Given the description of an element on the screen output the (x, y) to click on. 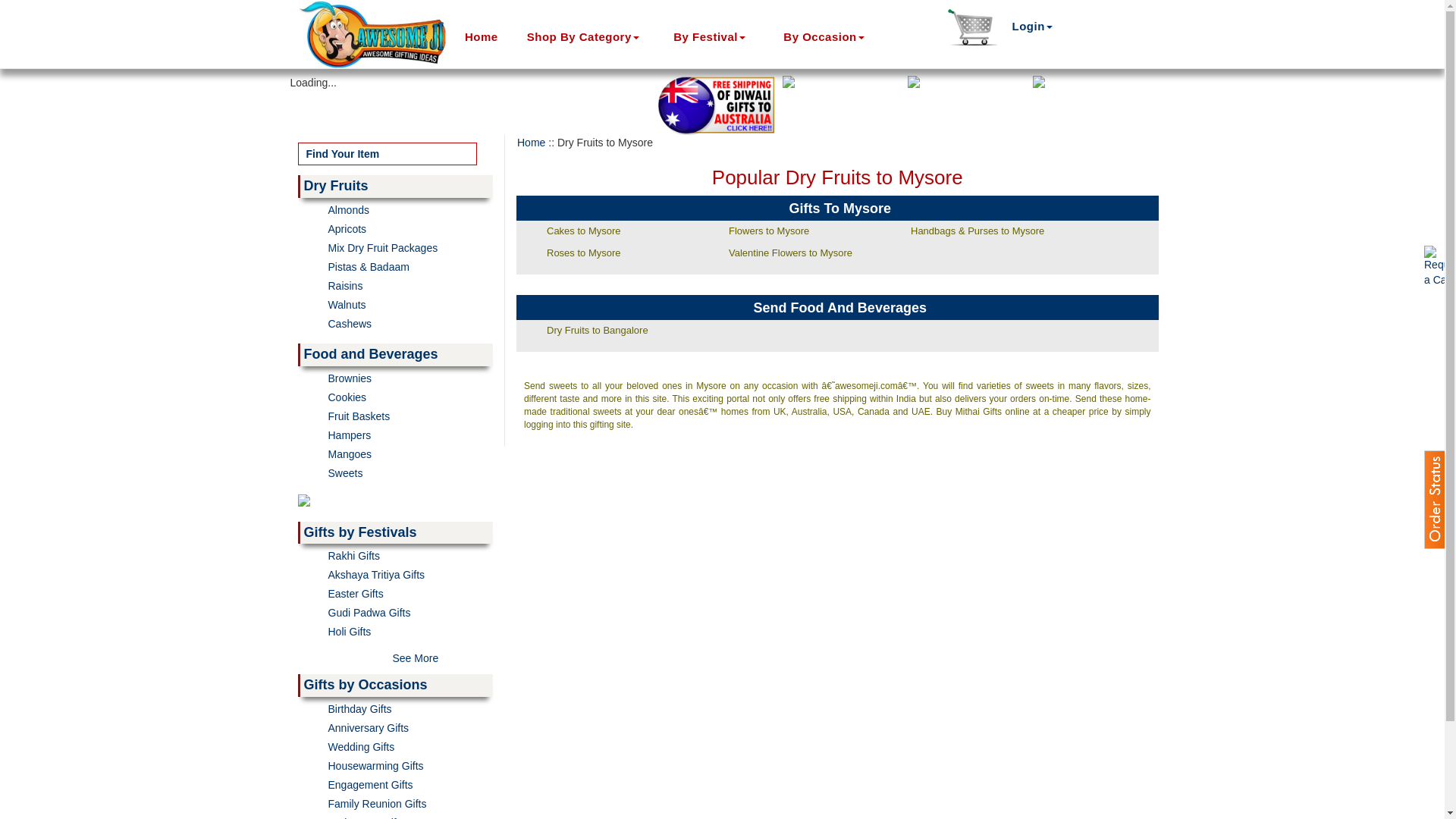
By Festival (724, 37)
By Occasion (834, 37)
Login (1032, 26)
Find Your Item (387, 153)
Home (485, 37)
Shop By Category (596, 37)
